Given the description of an element on the screen output the (x, y) to click on. 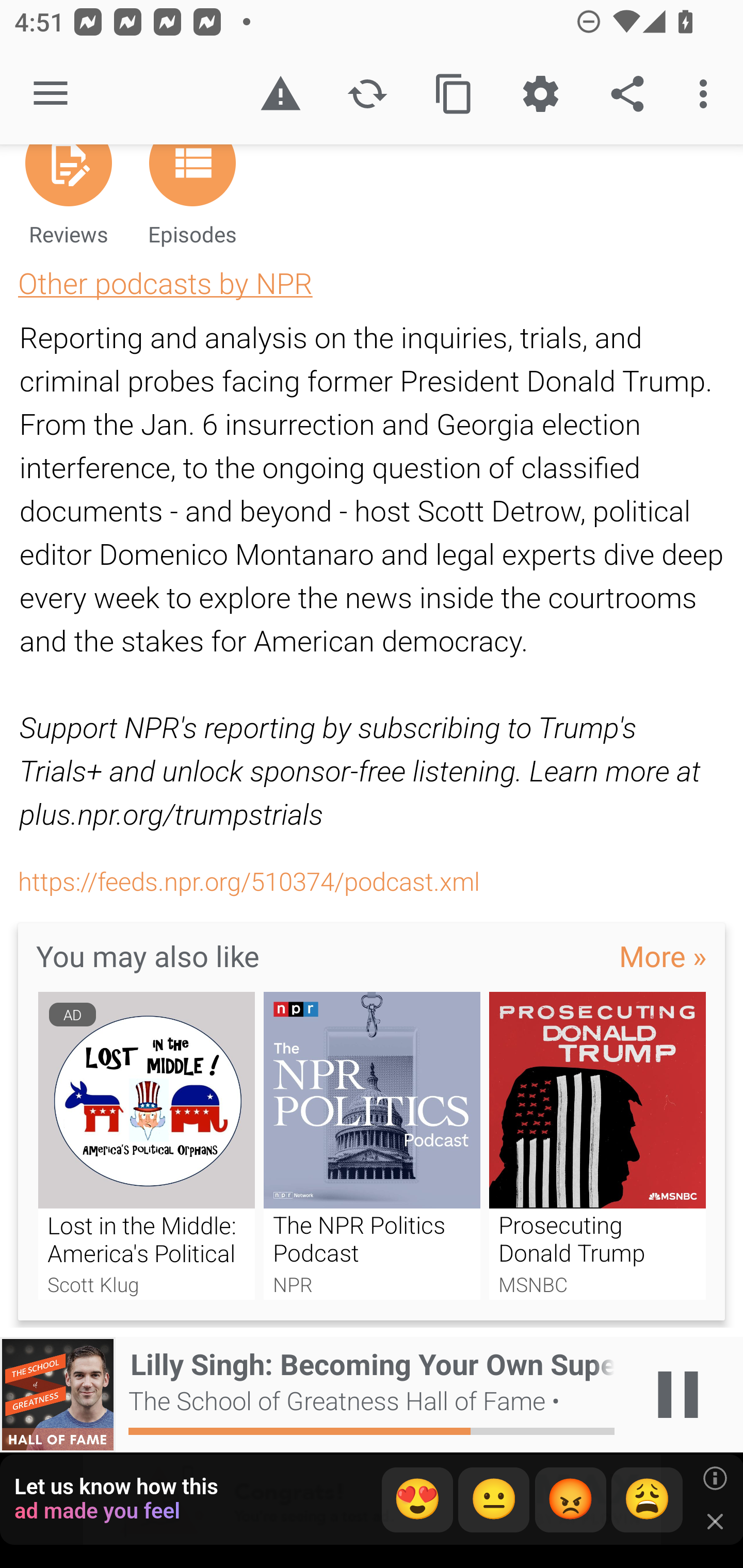
Open navigation sidebar (50, 93)
Report inappropriate content (280, 93)
Refresh podcast description (366, 93)
Copy feed url to clipboard (453, 93)
Custom Settings (540, 93)
Share the podcast (626, 93)
More options (706, 93)
Reviews (68, 203)
Episodes (192, 203)
Other podcasts by NPR (164, 282)
More » (662, 955)
The NPR Politics Podcast NPR (371, 1145)
Prosecuting Donald Trump MSNBC (596, 1145)
Play / Pause (677, 1394)
app-monetization (371, 1500)
😍 (416, 1499)
😐 (493, 1499)
😡 (570, 1499)
😩 (647, 1499)
